Given the description of an element on the screen output the (x, y) to click on. 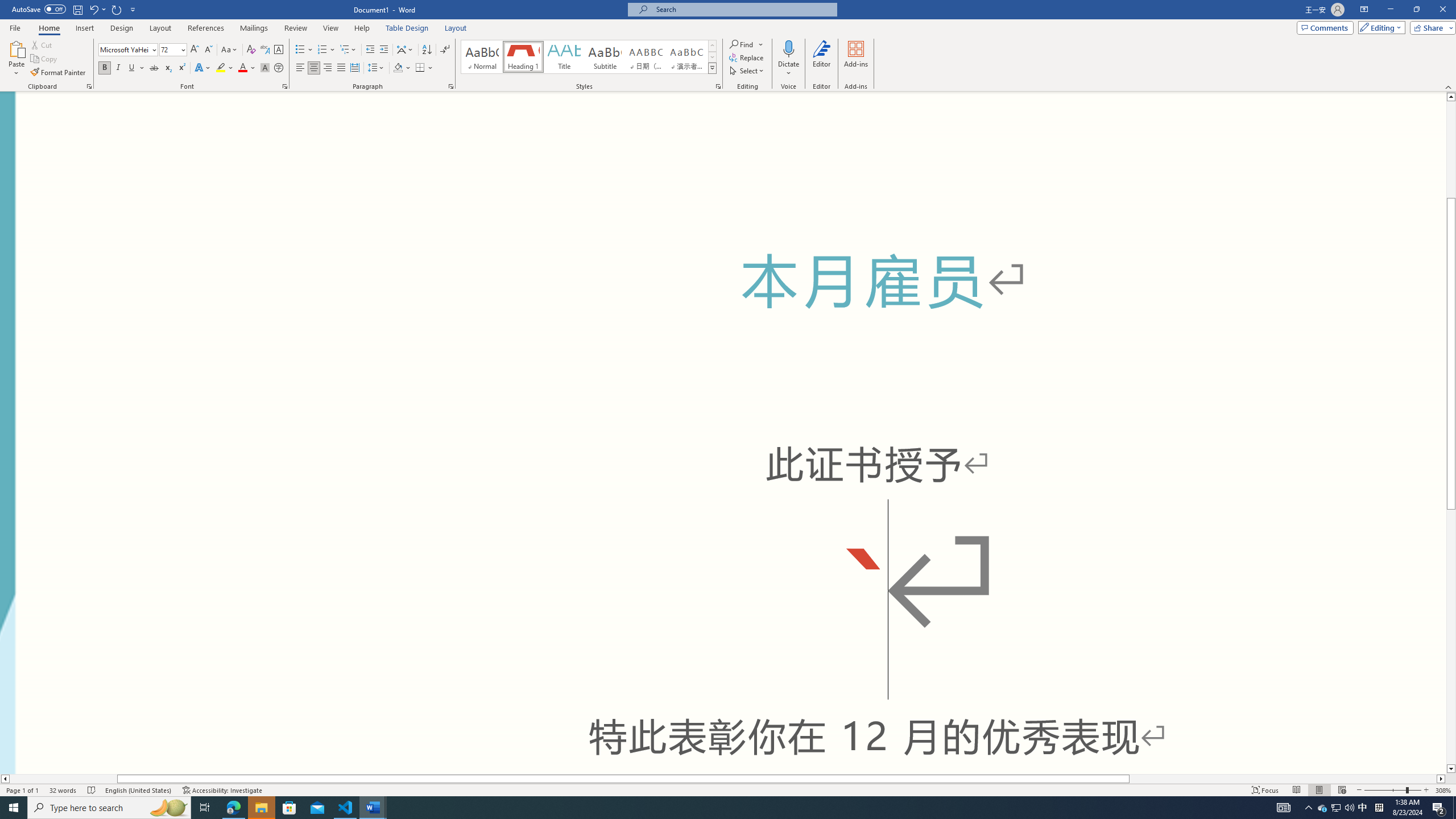
Paragraph... (450, 85)
Row Down (711, 56)
Paste (16, 58)
Close (1442, 9)
AutoSave (38, 9)
Focus  (1265, 790)
Align Right (327, 67)
Save (77, 9)
More Options (788, 68)
Class: MsoCommandBar (728, 45)
